Given the description of an element on the screen output the (x, y) to click on. 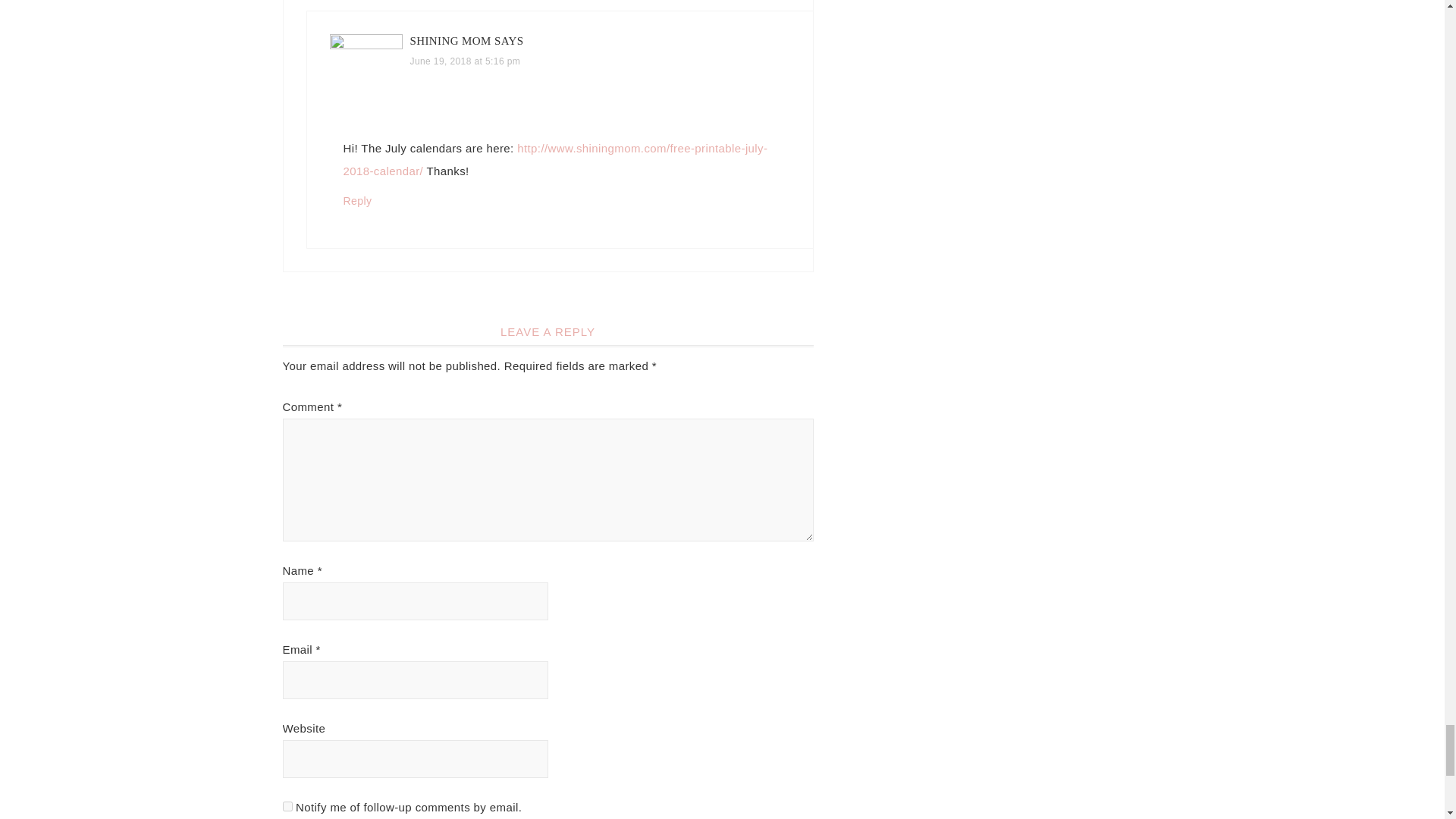
subscribe (287, 806)
